Given the description of an element on the screen output the (x, y) to click on. 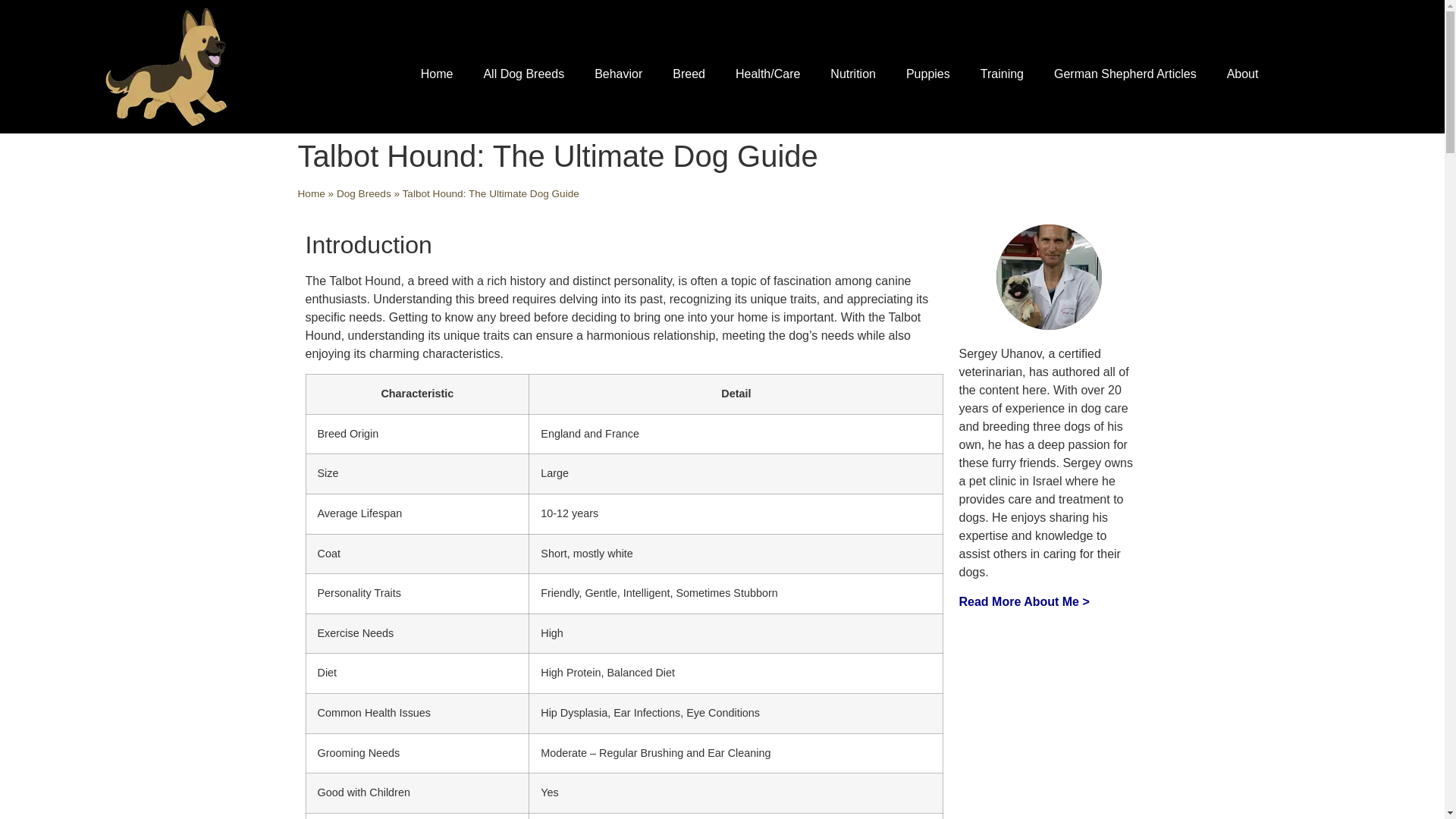
Home (437, 73)
Behavior (618, 73)
About (1242, 73)
Home (310, 193)
Nutrition (853, 73)
Breed (689, 73)
German Shepherd Articles (1125, 73)
Puppies (928, 73)
All Dog Breeds (523, 73)
Dog Breeds (363, 193)
